Given the description of an element on the screen output the (x, y) to click on. 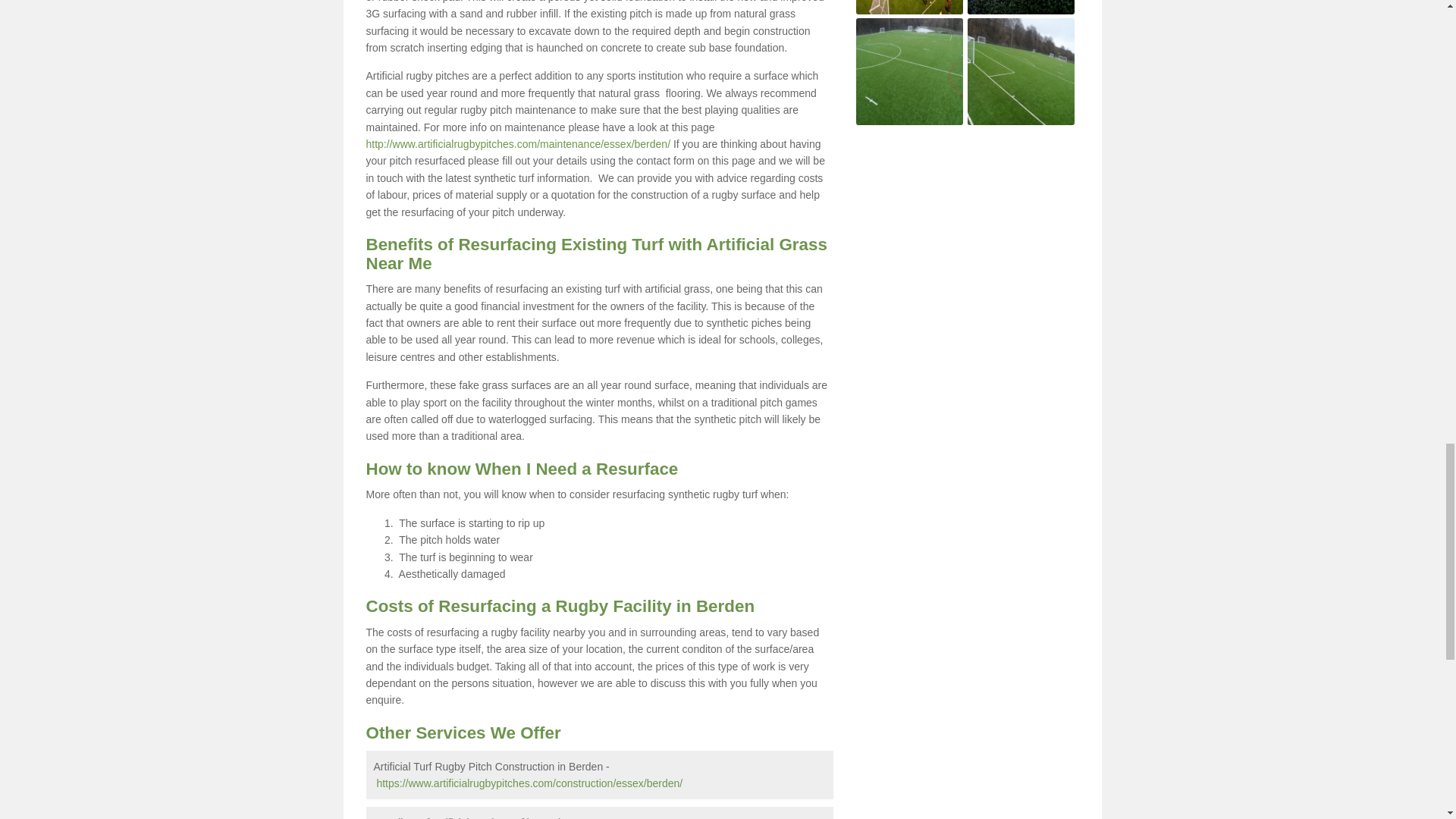
Artificial Rugby Pitch Resurface in Berden 10 (1021, 7)
Artificial Rugby Pitch Resurface in Berden 9 (909, 7)
Artificial Rugby Pitch Resurface in Berden 11 (909, 71)
Artificial Rugby Pitch Resurface in Berden 12 (1021, 71)
